Given the description of an element on the screen output the (x, y) to click on. 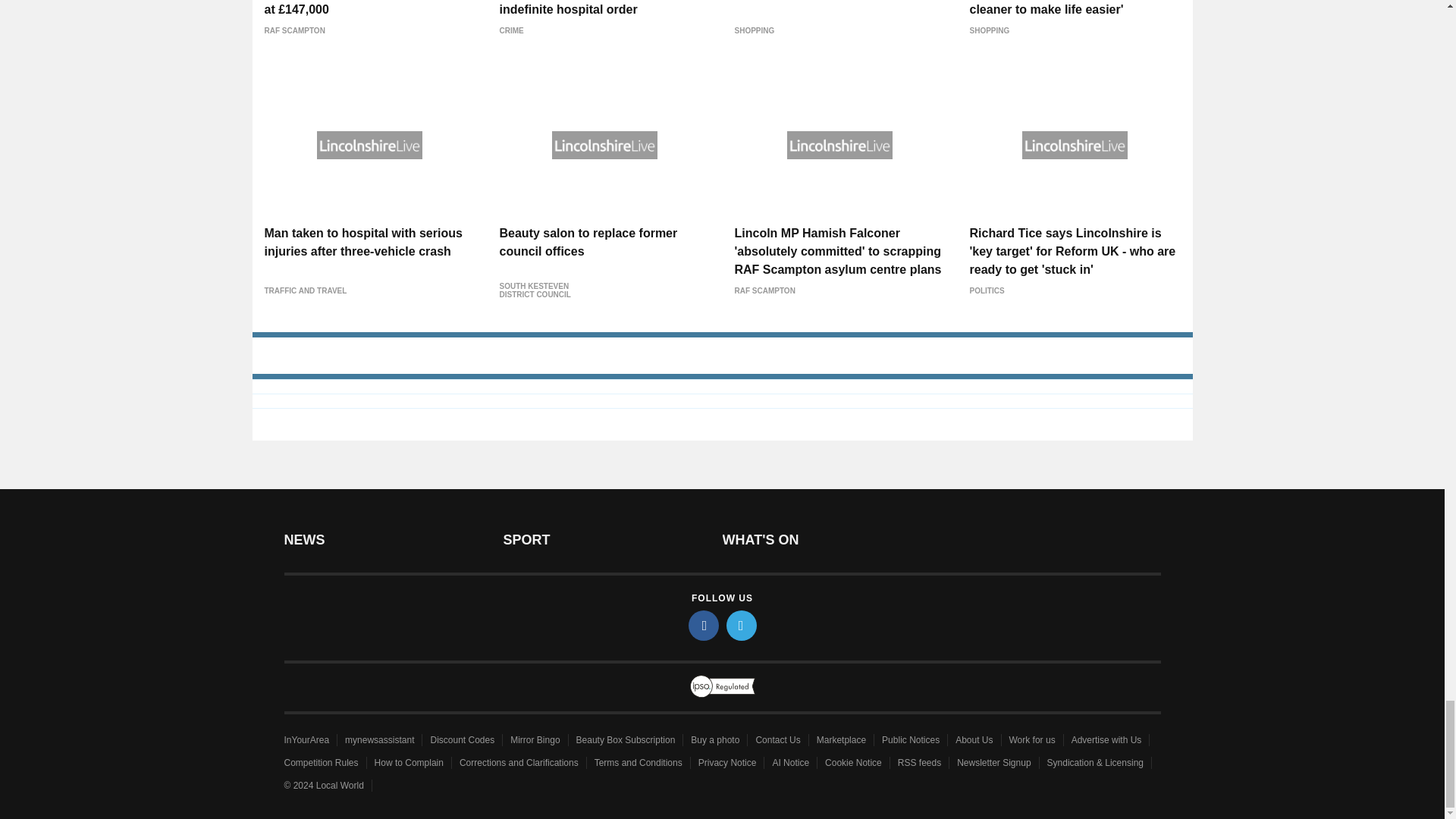
facebook (703, 625)
twitter (741, 625)
